Given the description of an element on the screen output the (x, y) to click on. 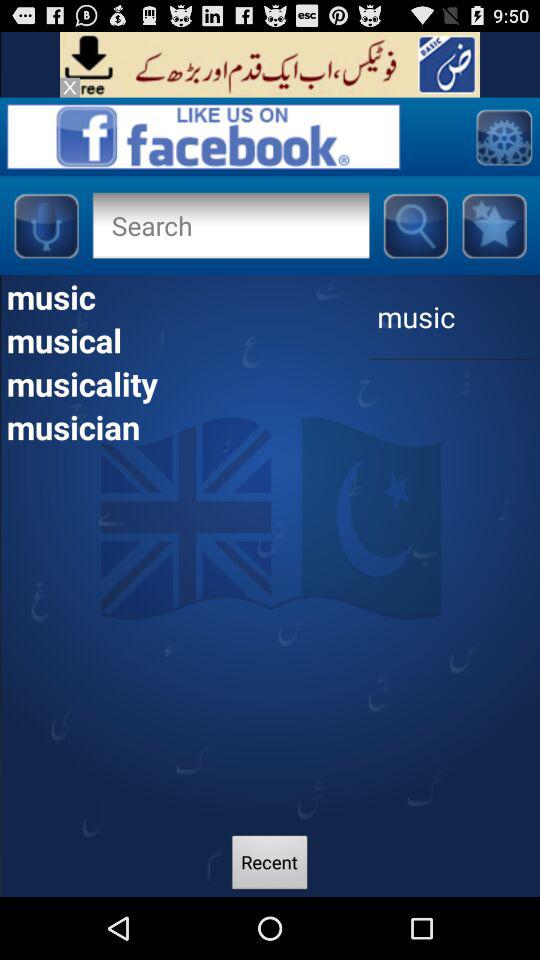
advertising link (270, 64)
